Given the description of an element on the screen output the (x, y) to click on. 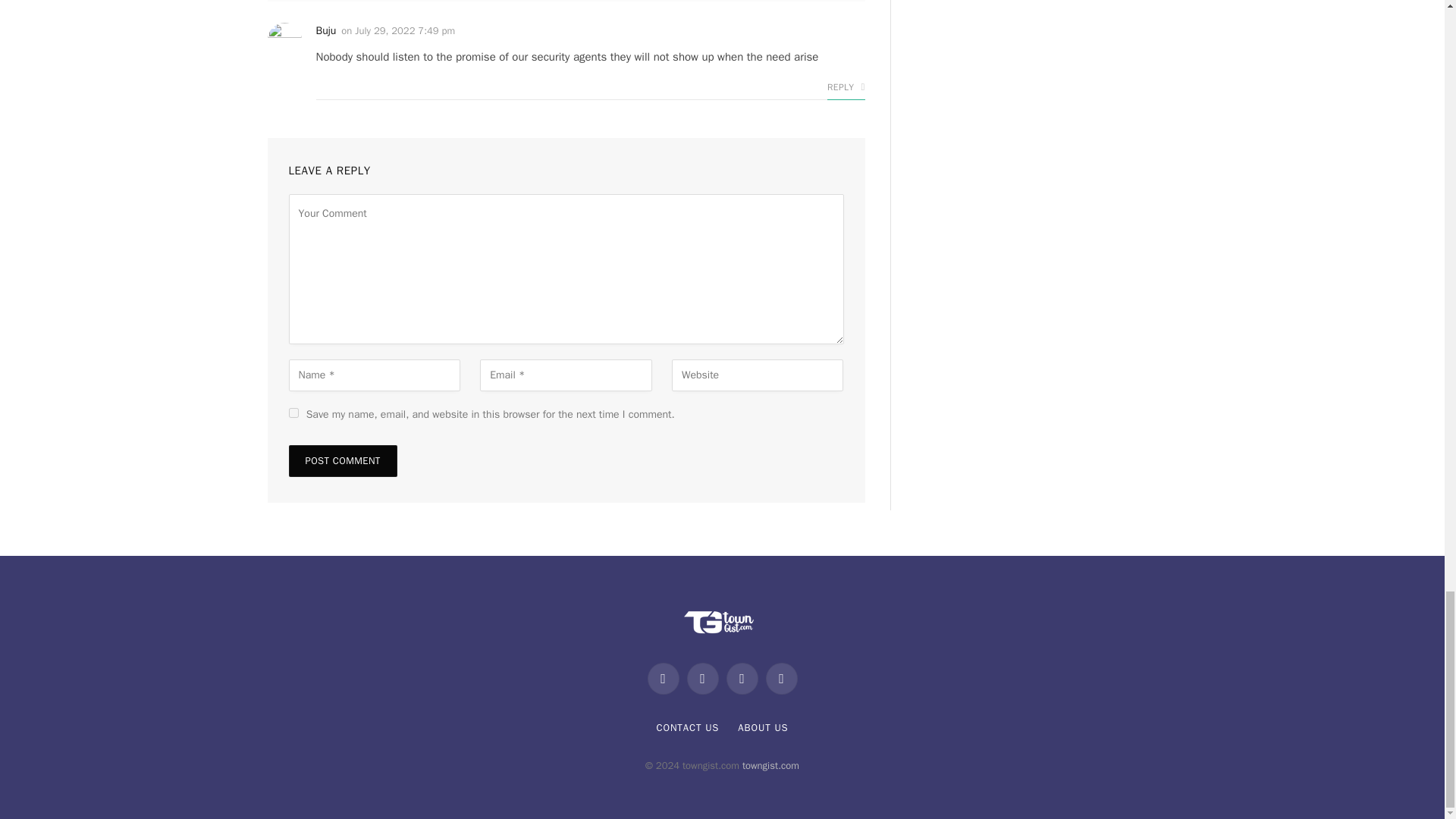
Post Comment (342, 460)
yes (293, 412)
